Given the description of an element on the screen output the (x, y) to click on. 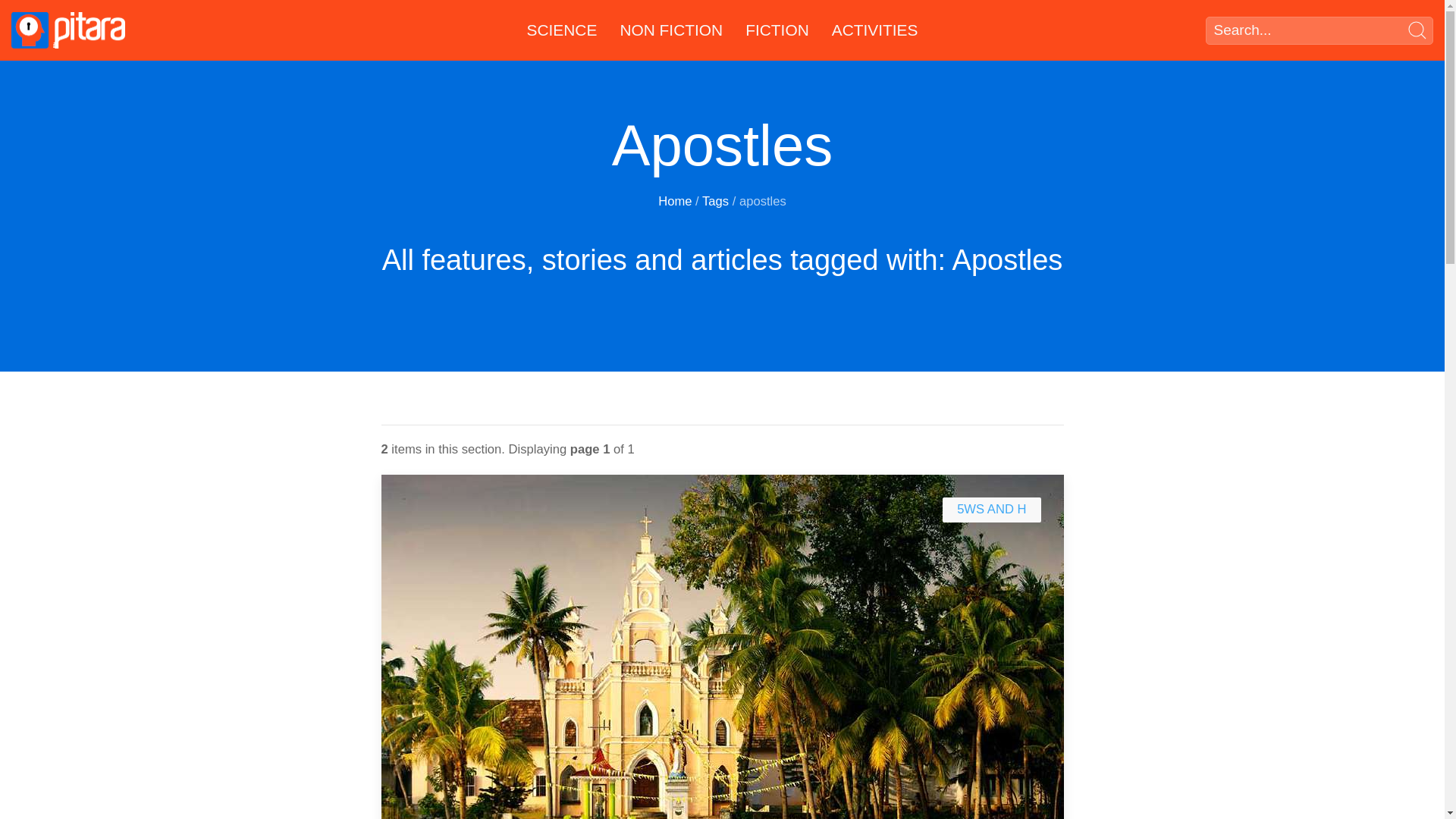
FICTION (777, 30)
SCIENCE (561, 30)
NON FICTION (670, 30)
ACTIVITIES (875, 30)
